Given the description of an element on the screen output the (x, y) to click on. 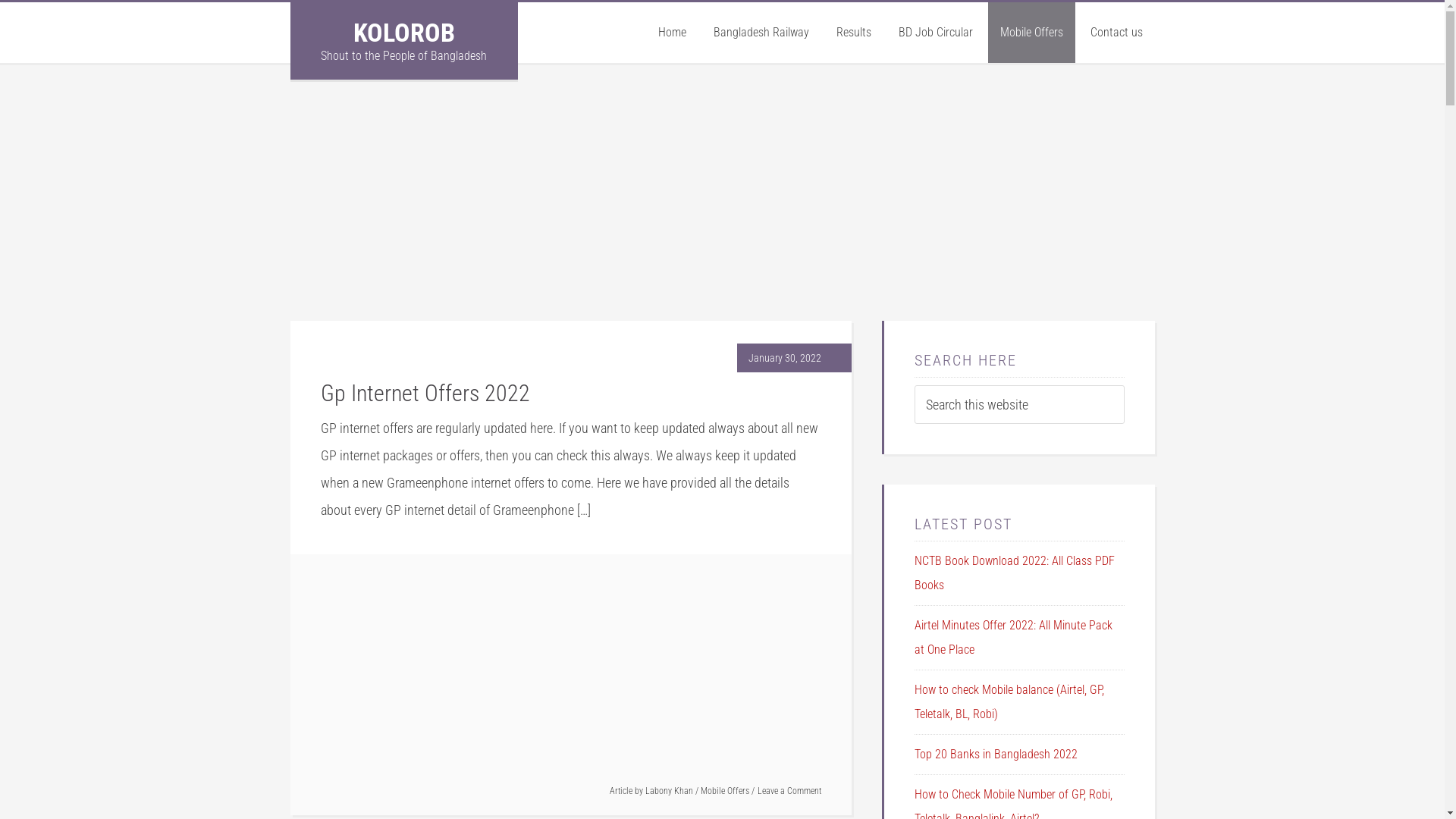
BD Job Circular Element type: text (934, 32)
Contact us Element type: text (1116, 32)
Advertisement Element type: hover (1017, 214)
Mobile Offers Element type: text (1030, 32)
Home Element type: text (672, 32)
Mobile Offers Element type: text (724, 790)
Gp Internet Offers 2022 Element type: text (424, 392)
Advertisement Element type: hover (570, 675)
NCTB Book Download 2022: All Class PDF Books Element type: text (1014, 572)
KOLOROB Element type: text (404, 32)
Advertisement Element type: hover (569, 214)
Airtel Minutes Offer 2022: All Minute Pack at One Place Element type: text (1013, 637)
Search Element type: text (1123, 384)
Top 20 Banks in Bangladesh 2022 Element type: text (995, 753)
Bangladesh Railway Element type: text (760, 32)
Labony Khan Element type: text (668, 790)
How to check Mobile balance (Airtel, GP, Teletalk, BL, Robi) Element type: text (1009, 701)
Results Element type: text (852, 32)
Leave a Comment Element type: text (788, 790)
